Given the description of an element on the screen output the (x, y) to click on. 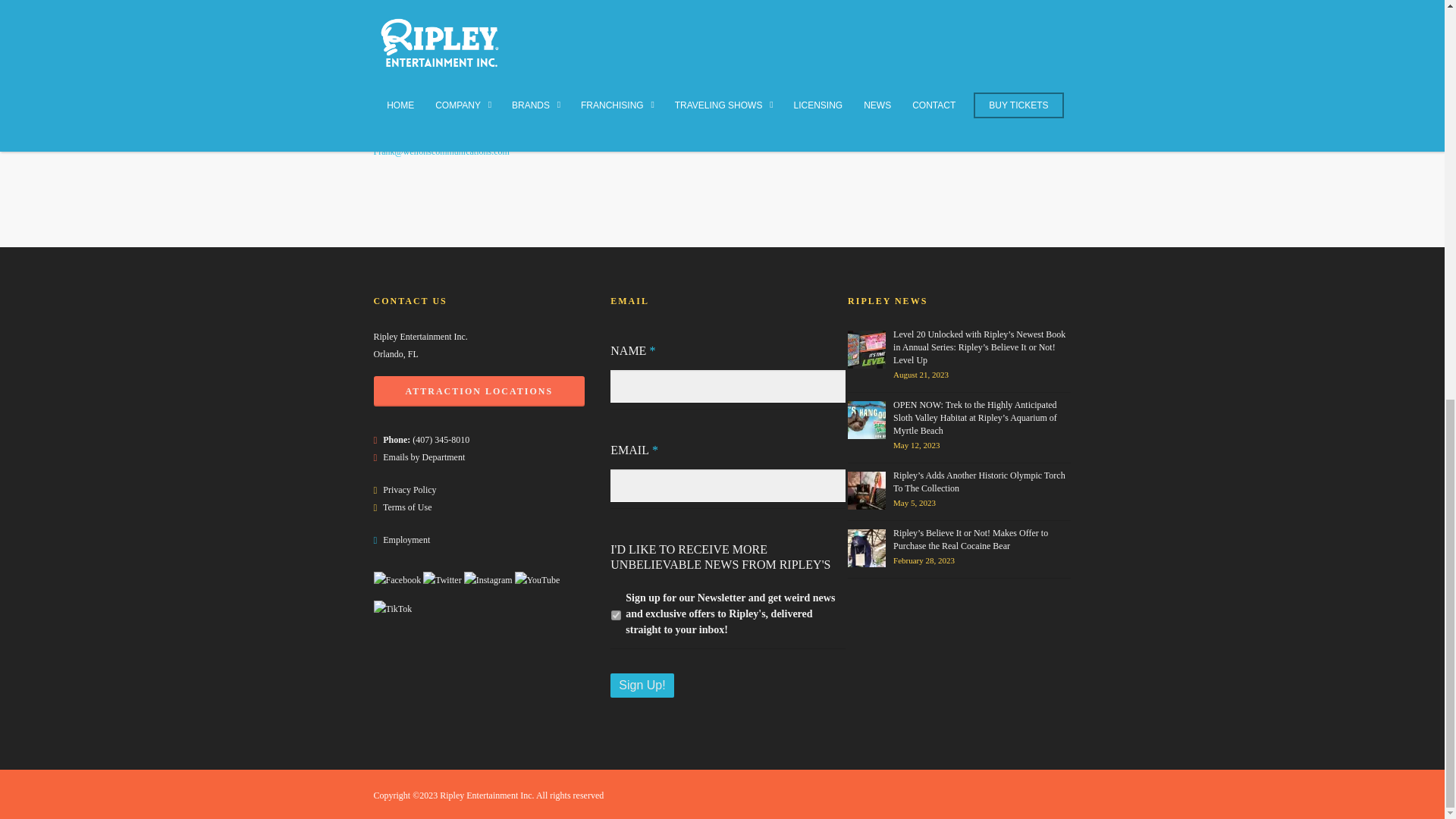
Sign Up! (641, 685)
